Given the description of an element on the screen output the (x, y) to click on. 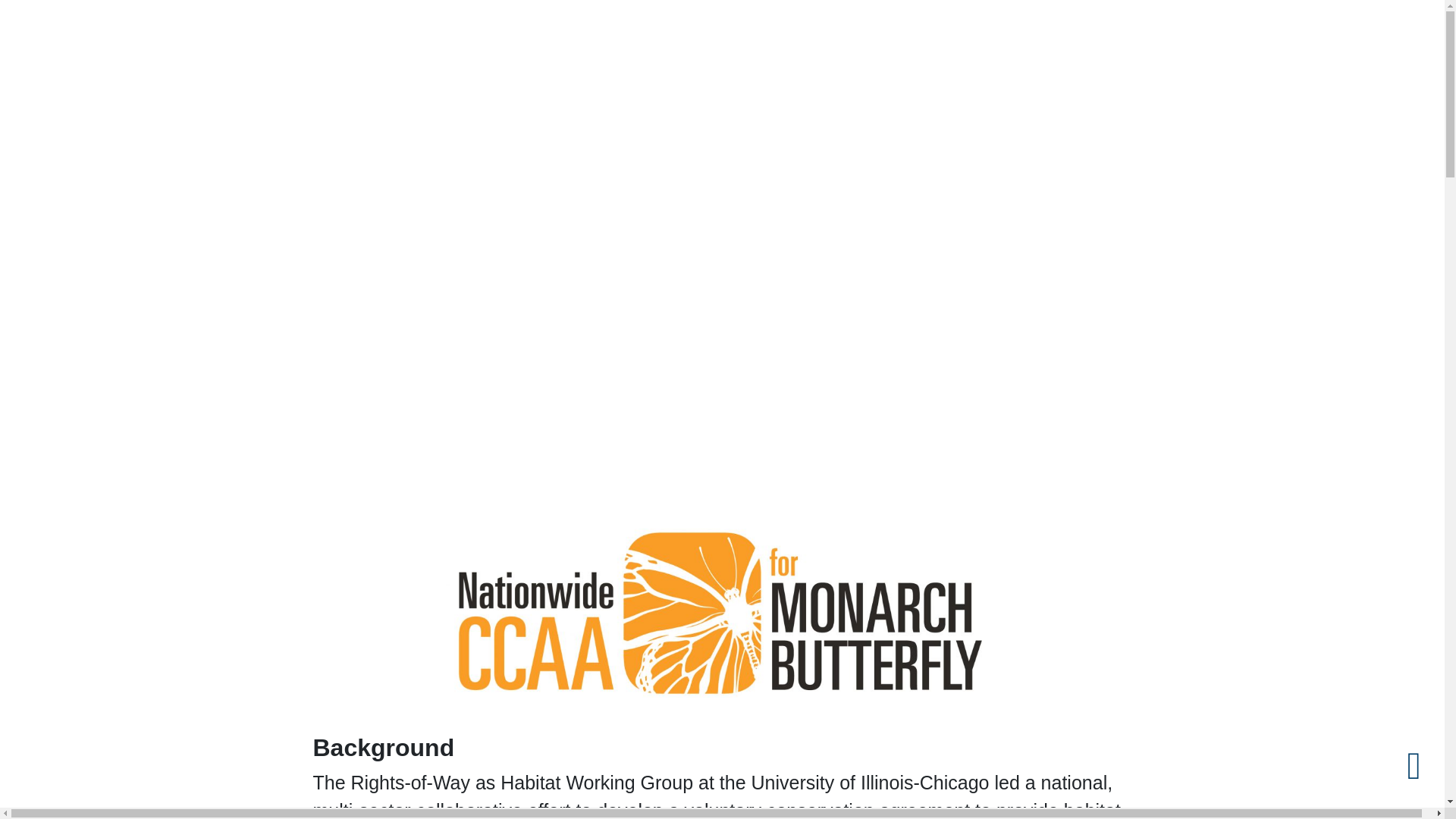
CONSERVATION BENEFIT AGREEMENTS (1157, 92)
Contact (1386, 33)
PROJECTS (1003, 92)
Register (1326, 33)
HOME (632, 92)
Login (1271, 33)
ABOUT (685, 92)
